Given the description of an element on the screen output the (x, y) to click on. 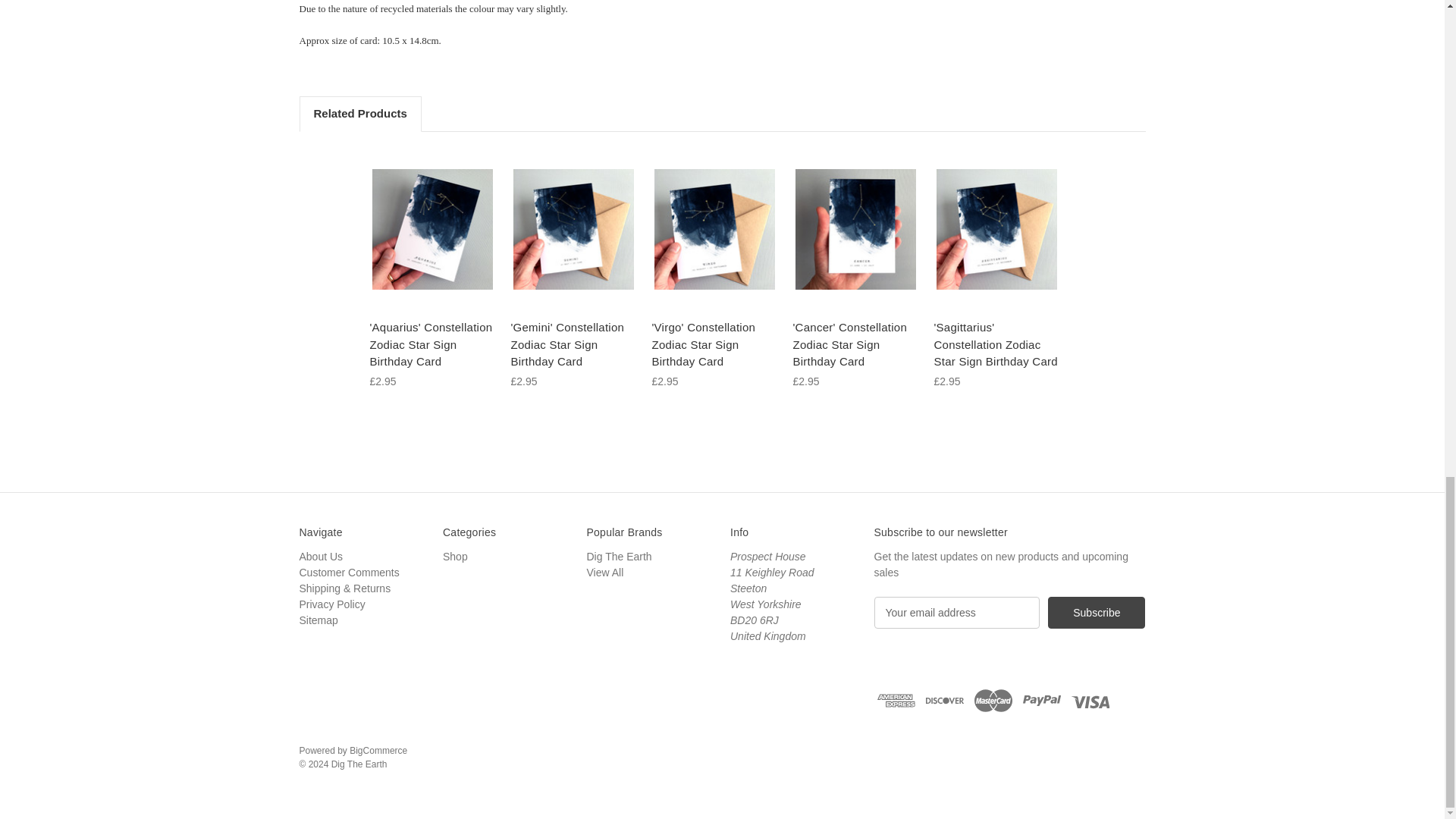
Subscribe (1096, 612)
